Given the description of an element on the screen output the (x, y) to click on. 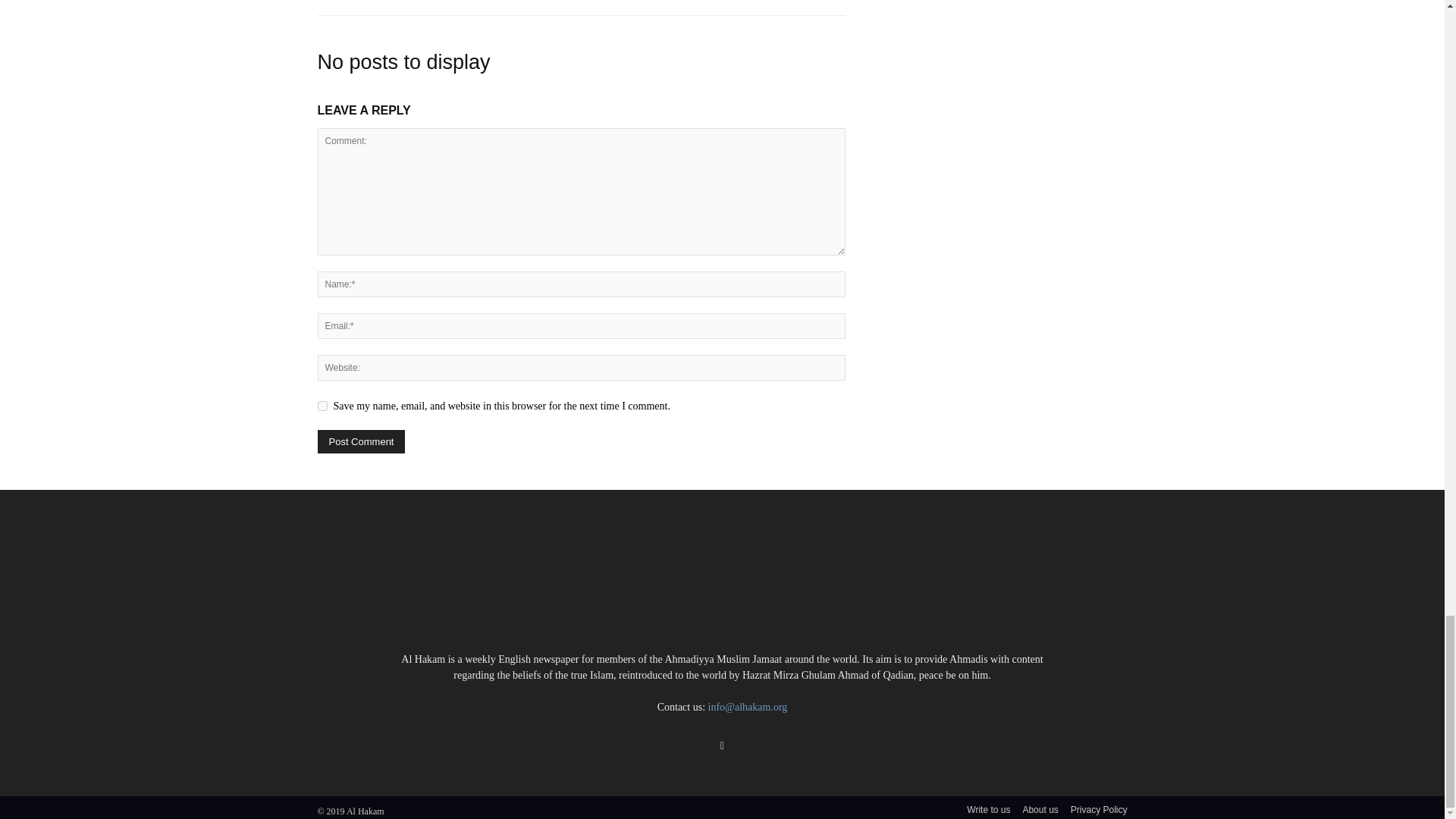
yes (321, 406)
Post Comment (360, 441)
